Given the description of an element on the screen output the (x, y) to click on. 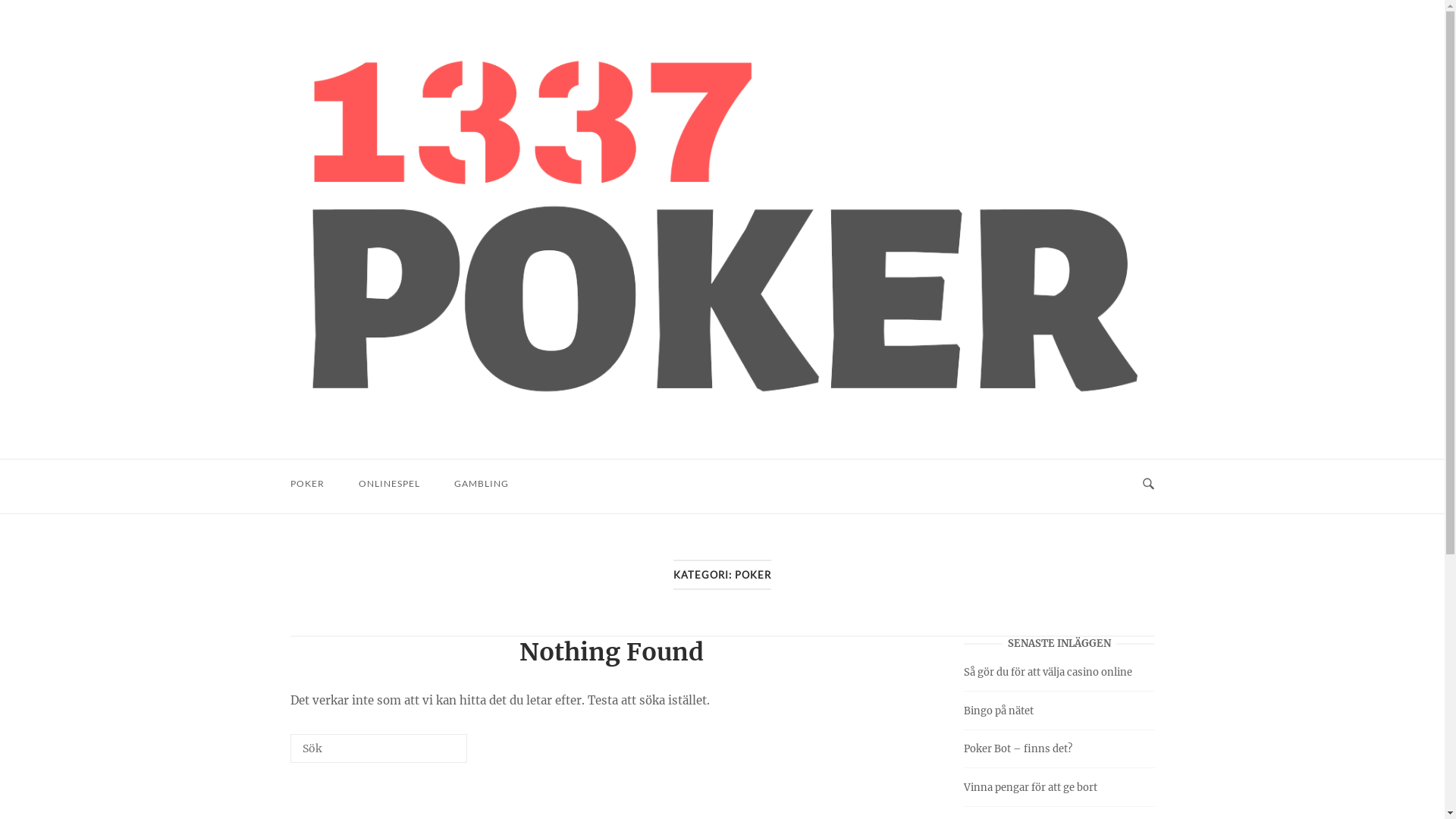
Home Element type: text (721, 229)
GAMBLING Element type: text (480, 483)
ONLINESPEL Element type: text (388, 483)
POKER Element type: text (306, 483)
